Given the description of an element on the screen output the (x, y) to click on. 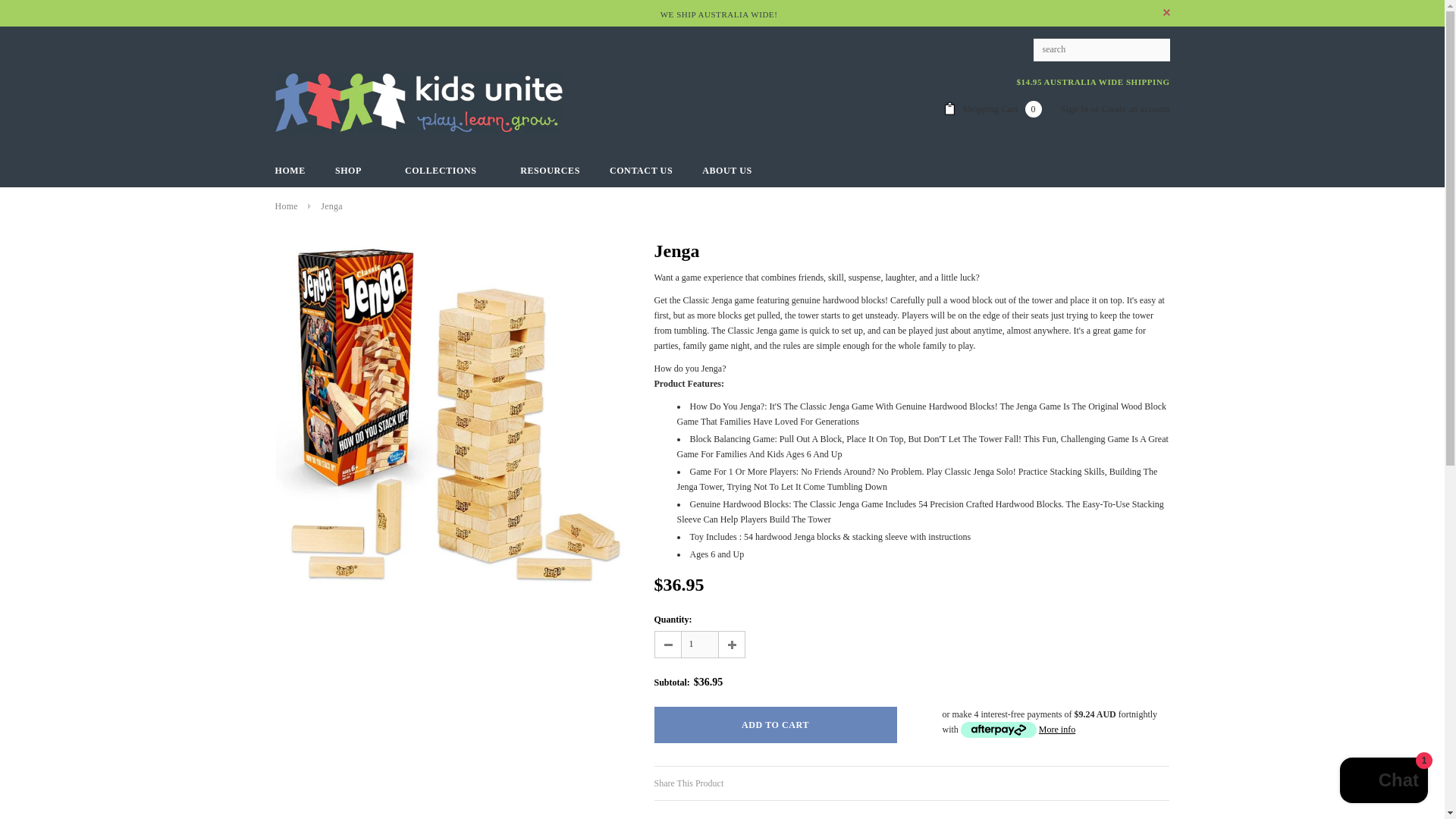
SHOP (354, 170)
1 (700, 644)
Shopping Cart 0 (1002, 109)
HOME (289, 170)
Create an account (1134, 109)
Sign In (1075, 109)
Add to Cart (774, 724)
CLOSE (1166, 12)
Shopify online store chat (1383, 781)
